Given the description of an element on the screen output the (x, y) to click on. 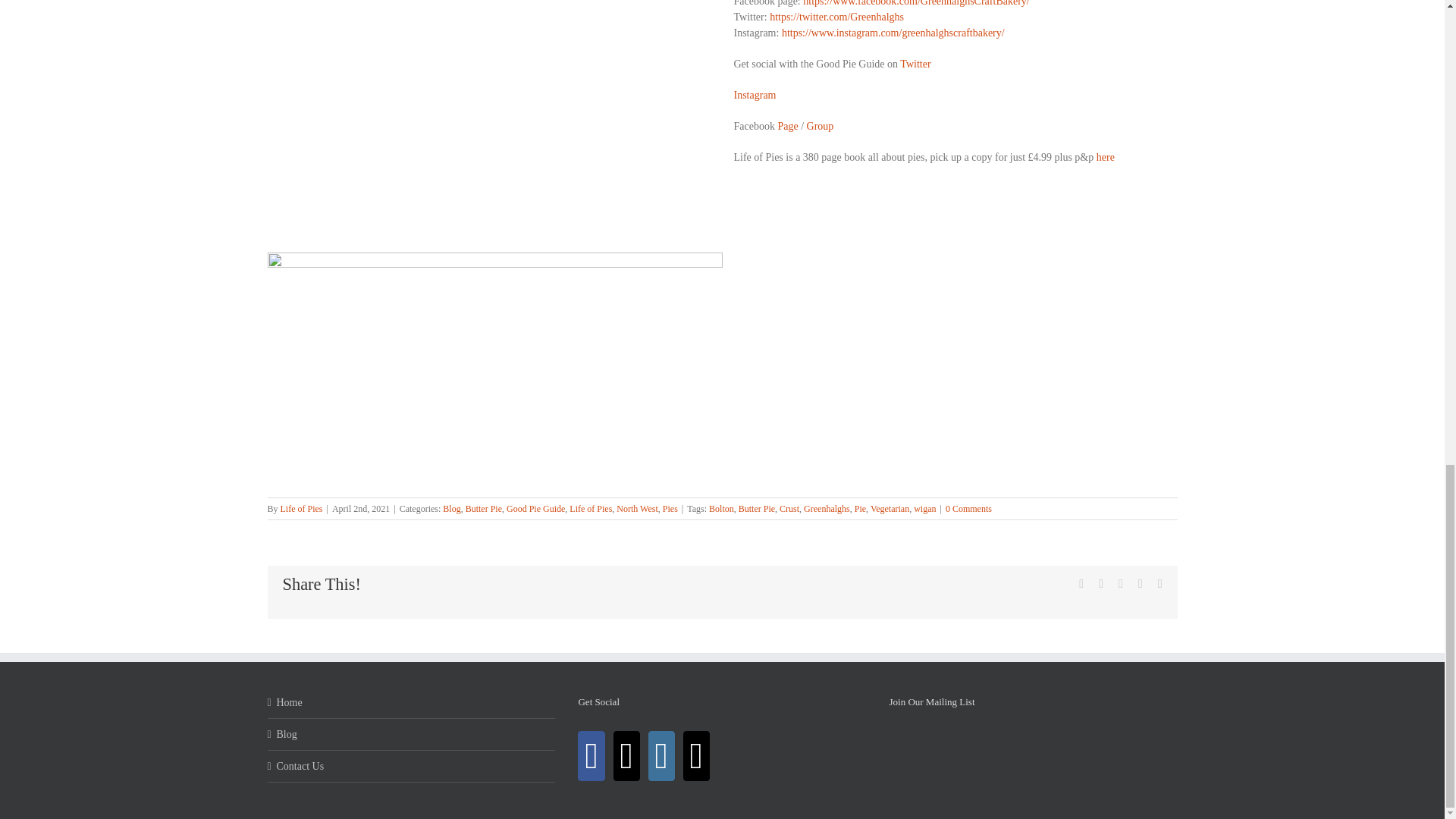
Twitter (626, 756)
X (1101, 583)
Instagram (661, 756)
WhatsApp (1120, 583)
Pinterest (1140, 583)
Email (1159, 583)
Posts by Life of Pies (302, 508)
Mail (696, 756)
Facebook (591, 756)
Facebook (1080, 583)
